Given the description of an element on the screen output the (x, y) to click on. 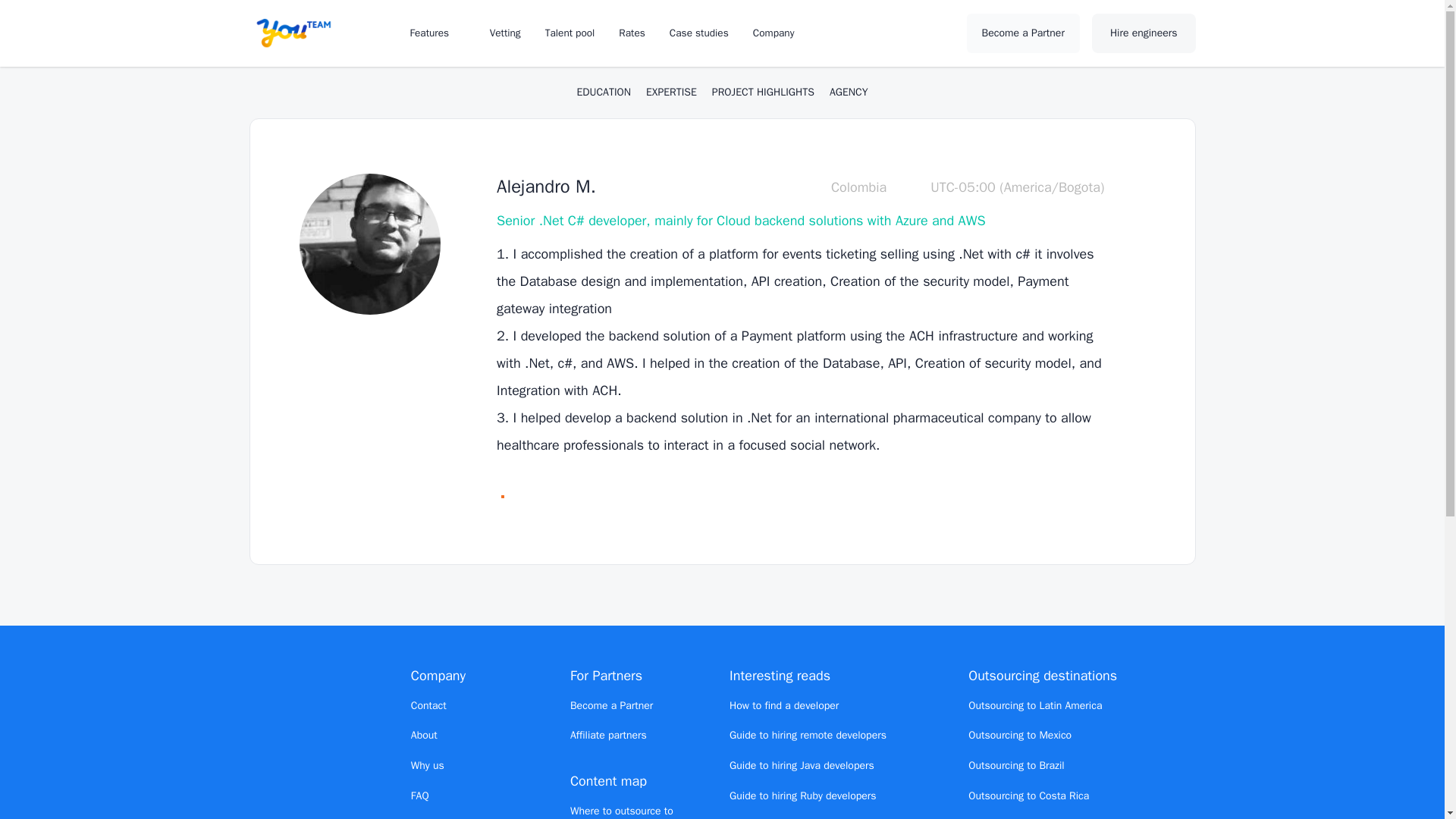
Education (603, 92)
Guide to hiring remote developers (807, 735)
Vetting (505, 32)
Company (781, 32)
EDUCATION (603, 92)
Case studies (699, 32)
EXPERTISE (671, 92)
Why us (427, 765)
Features (436, 32)
How to find a developer (783, 705)
PROJECT HIGHLIGHTS (762, 92)
Become a Partner (611, 705)
Hire engineers (1143, 33)
Become a Partner (1023, 32)
Guide to hiring Java developers (802, 765)
